Given the description of an element on the screen output the (x, y) to click on. 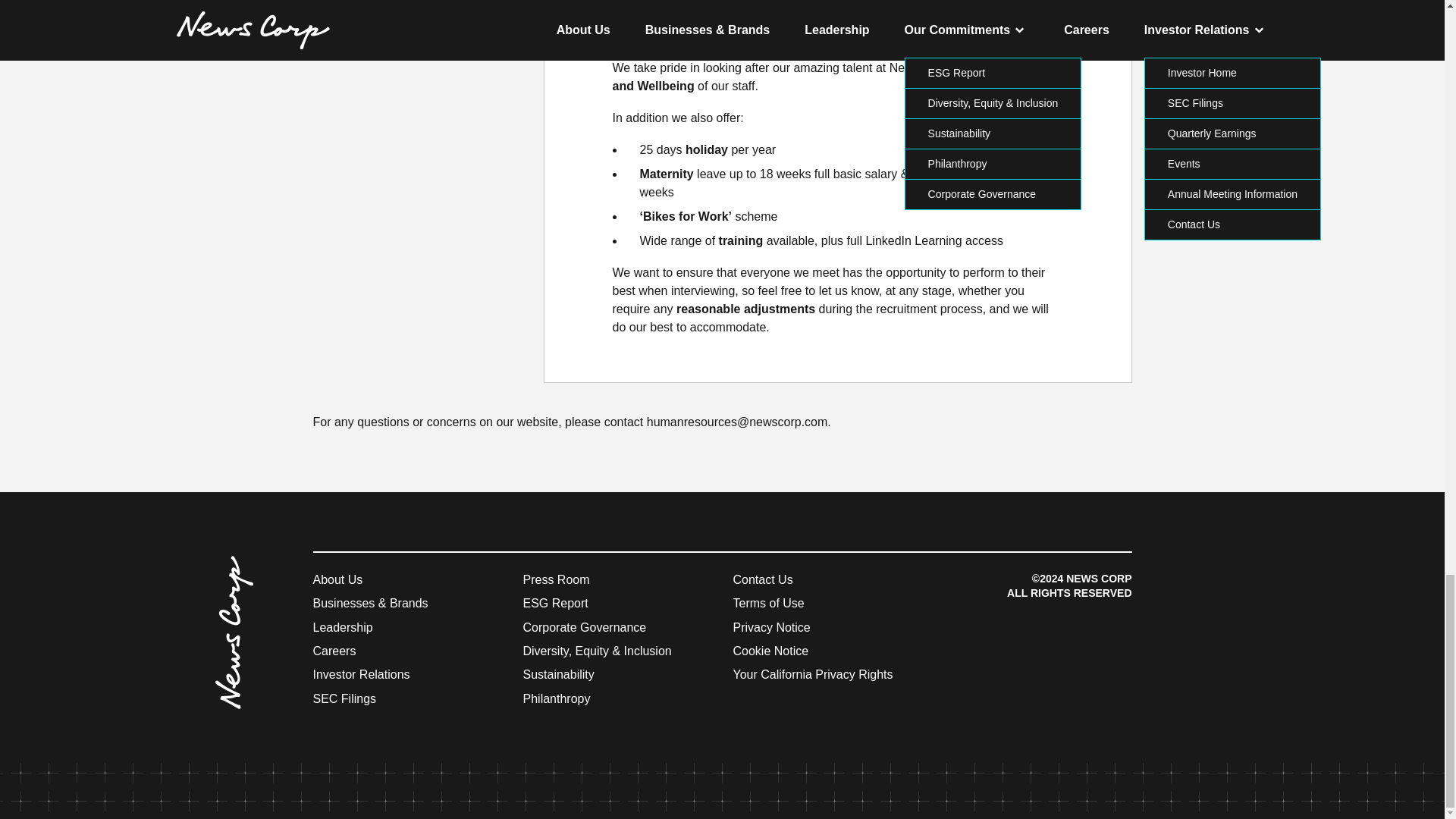
Cookie Notice (770, 650)
Leadership (342, 626)
News Corp (291, 574)
Privacy Notice (770, 626)
ESG Report (555, 603)
Sustainability (558, 674)
Corporate Governance (584, 626)
Careers (334, 650)
About Us (337, 579)
Press Room (555, 579)
